Given the description of an element on the screen output the (x, y) to click on. 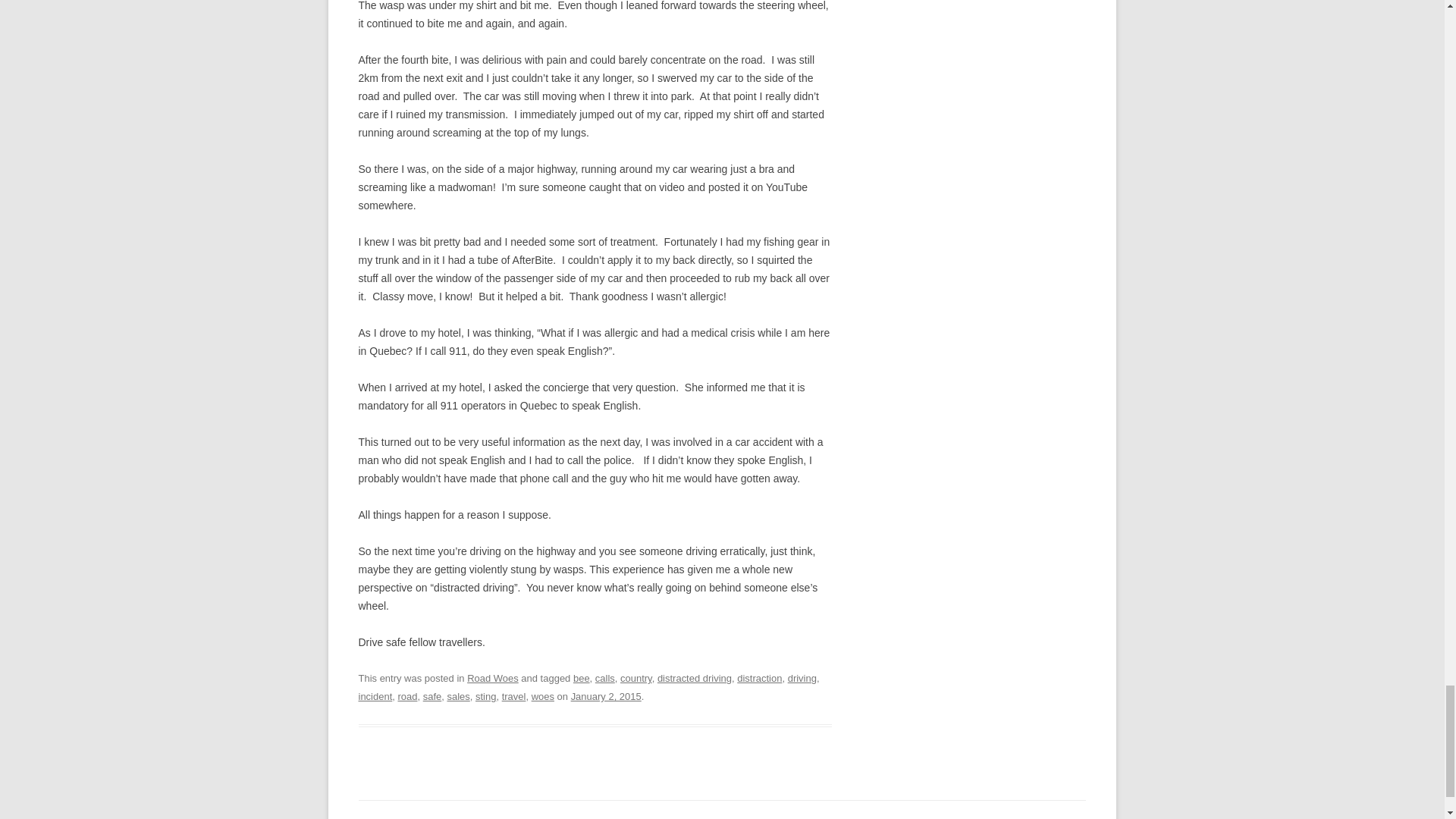
4:16 pm (606, 696)
